Given the description of an element on the screen output the (x, y) to click on. 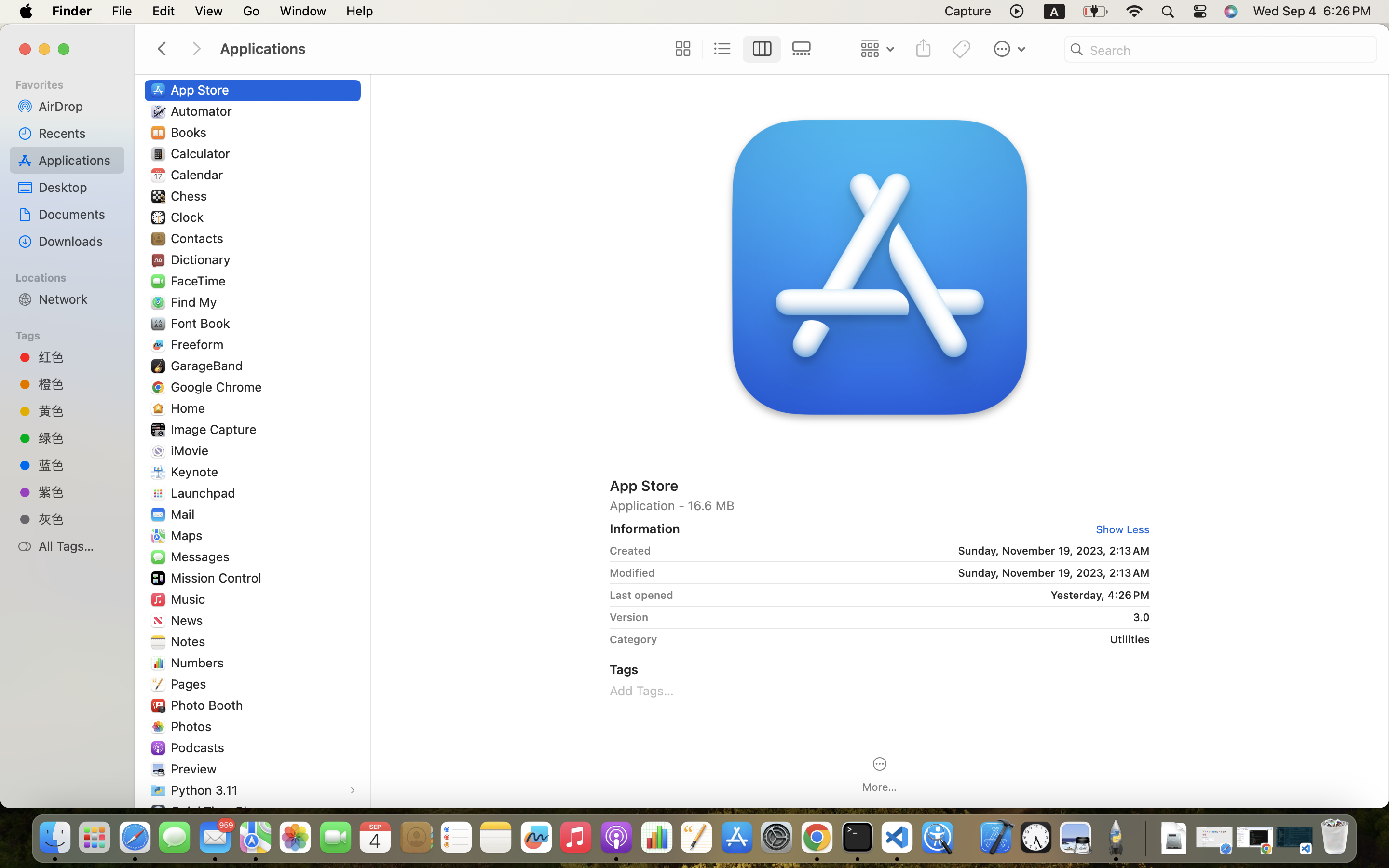
Books Element type: AXTextField (190, 131)
1 Element type: AXRadioButton (762, 48)
Font Book Element type: AXTextField (202, 322)
1 Element type: AXCheckBox (1119, 529)
蓝色 Element type: AXStaticText (77, 464)
